Given the description of an element on the screen output the (x, y) to click on. 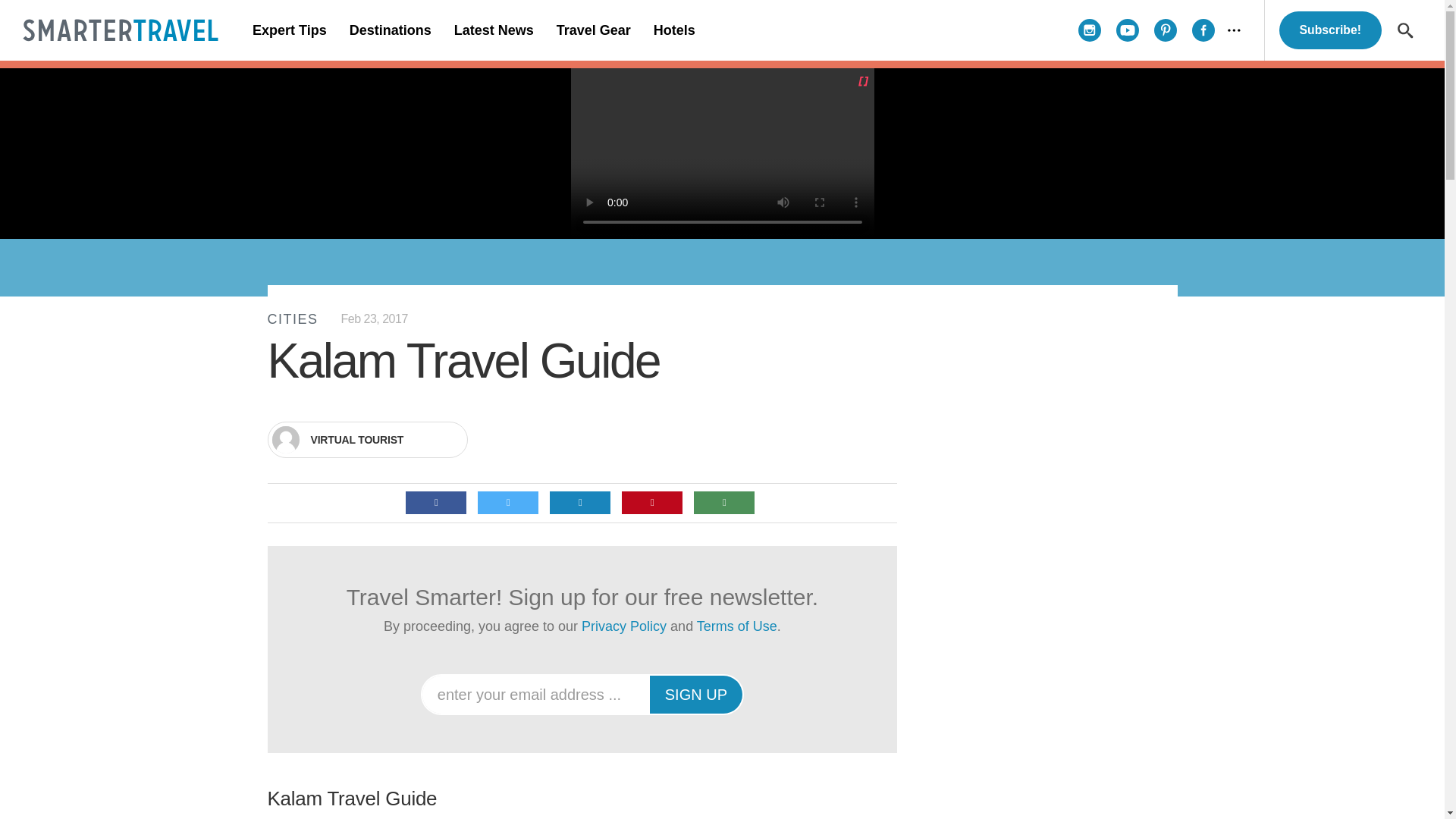
Hotels (674, 30)
Travel Gear (593, 30)
Expert Tips (289, 30)
Latest News (493, 30)
Destinations (389, 30)
Subscribe! (1330, 30)
